Given the description of an element on the screen output the (x, y) to click on. 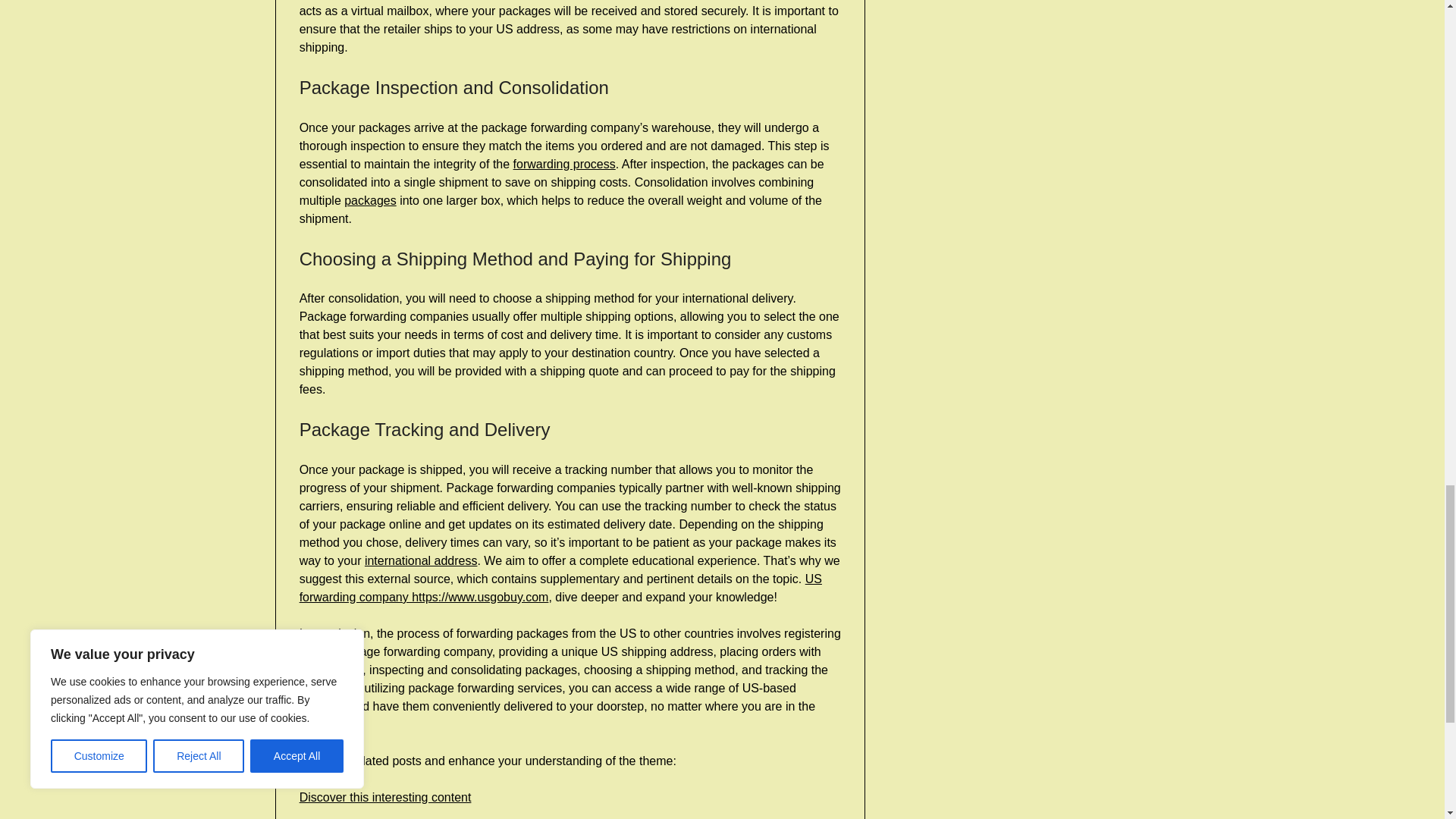
forwarding process (564, 164)
international address (421, 560)
packages (369, 200)
Discover this interesting content (385, 797)
